Given the description of an element on the screen output the (x, y) to click on. 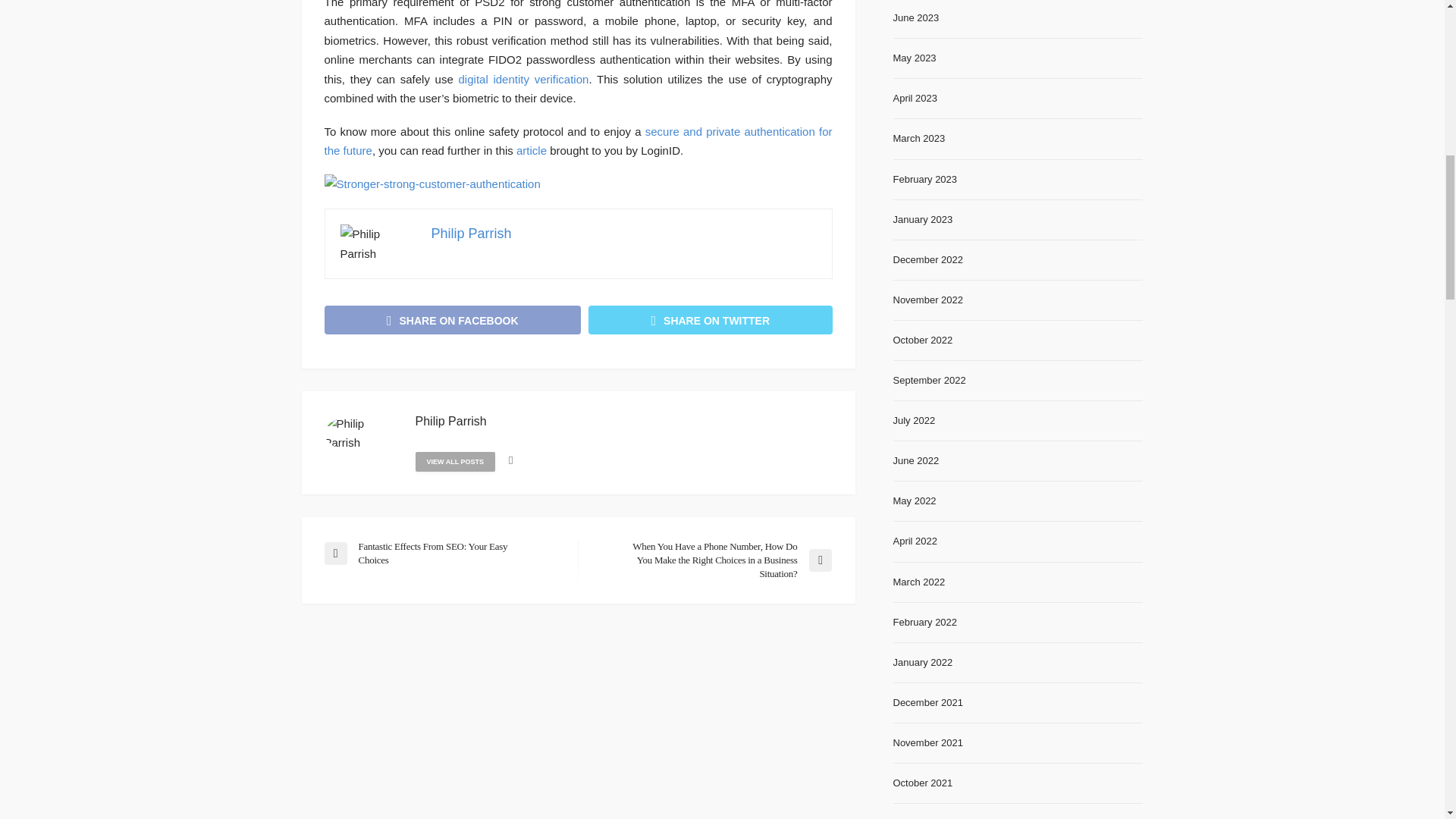
Fantastic Effects From SEO: Your Easy Choices (443, 553)
digital identity verification (523, 78)
